Given the description of an element on the screen output the (x, y) to click on. 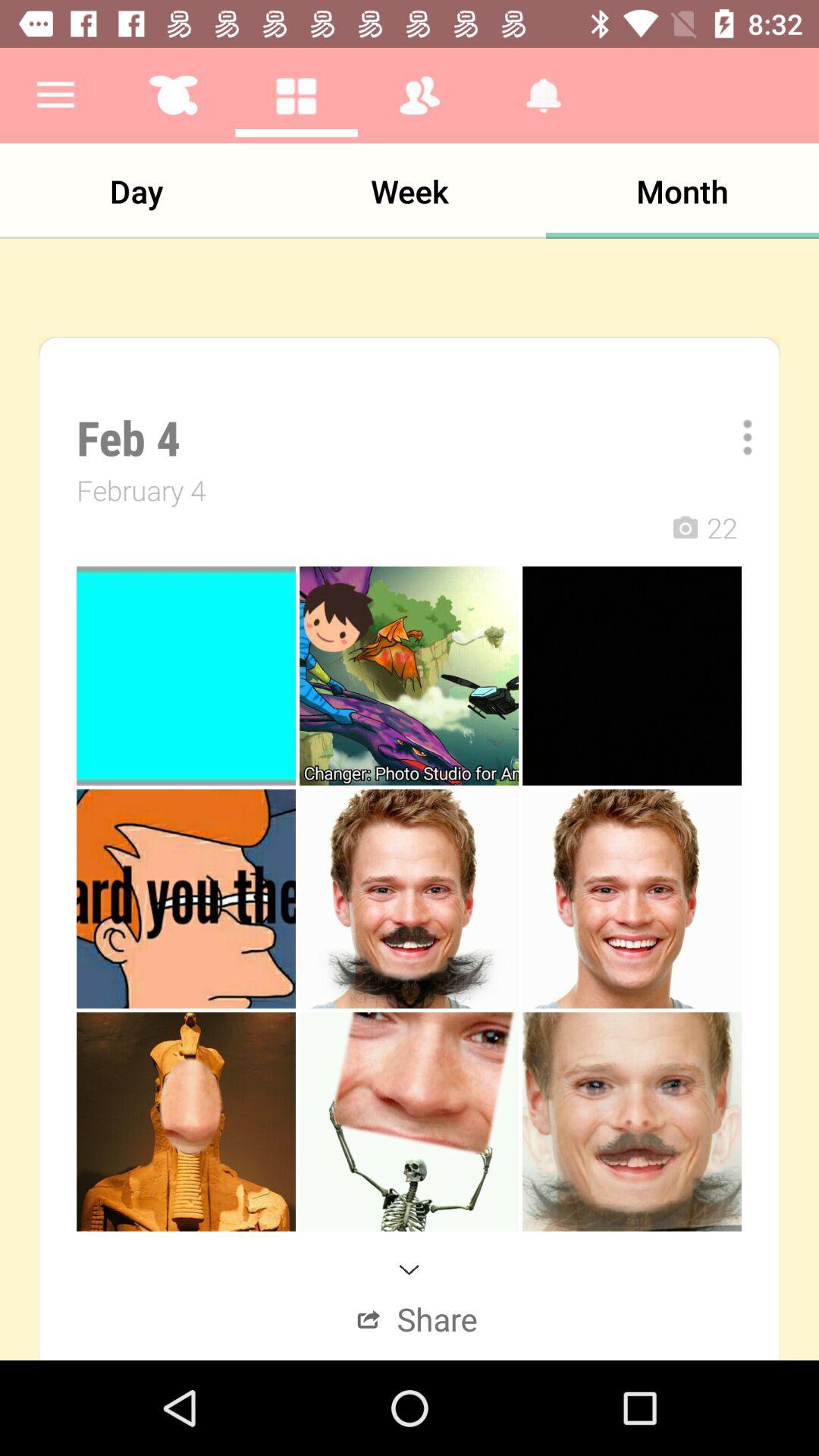
turn off week app (409, 190)
